Given the description of an element on the screen output the (x, y) to click on. 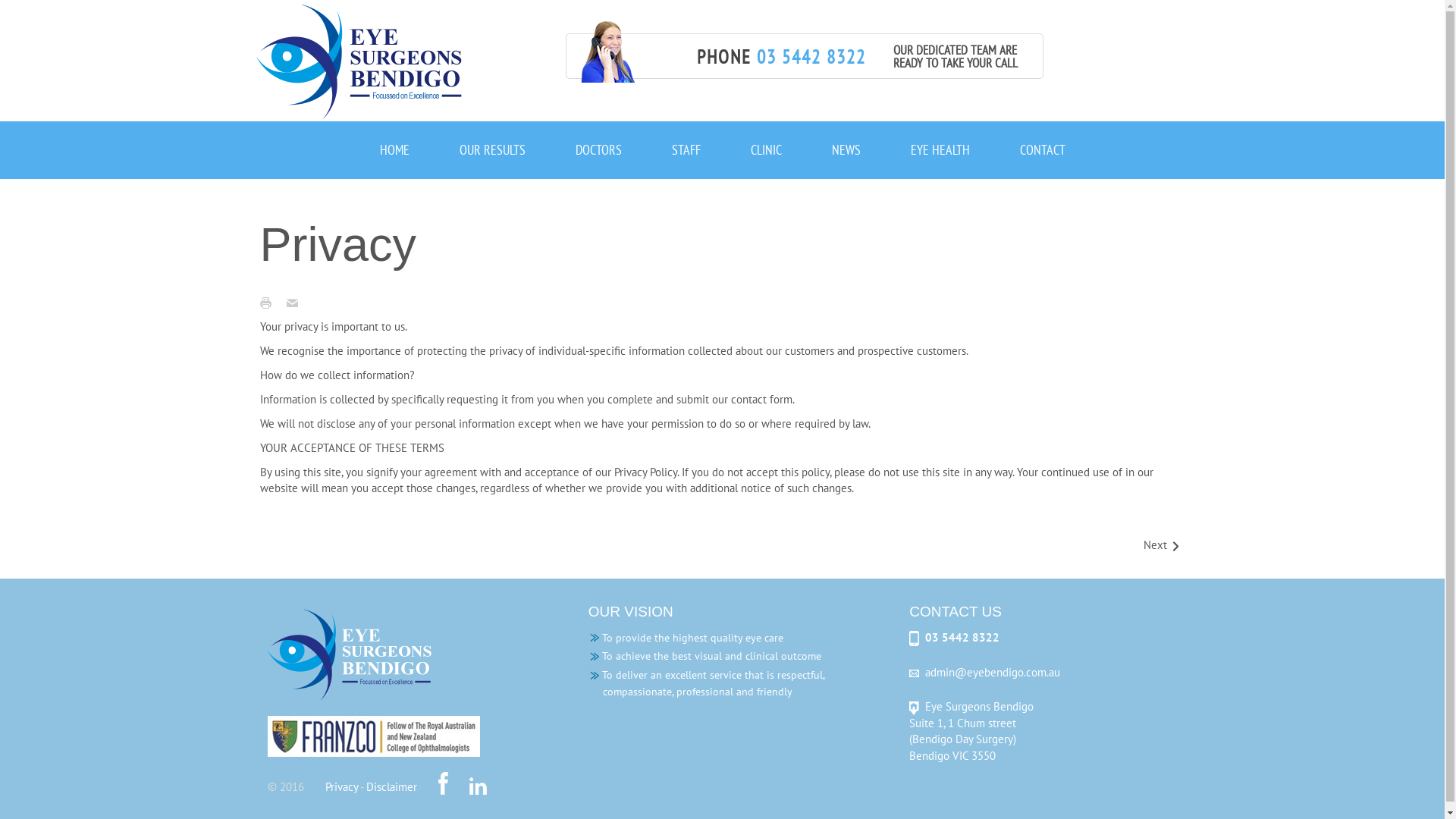
Privacy Element type: text (340, 786)
Next Element type: text (1161, 545)
EYE HEALTH Element type: text (940, 149)
HOME Element type: text (394, 149)
CONTACT Element type: text (1042, 149)
Disclaimer Element type: text (390, 786)
CLINIC Element type: text (765, 149)
Print article < Privacy > Element type: hover (268, 301)
OUR RESULTS Element type: text (491, 149)
NEWS Element type: text (846, 149)
DOCTORS Element type: text (598, 149)
Email this link to a friend Element type: hover (295, 301)
STAFF Element type: text (685, 149)
